Given the description of an element on the screen output the (x, y) to click on. 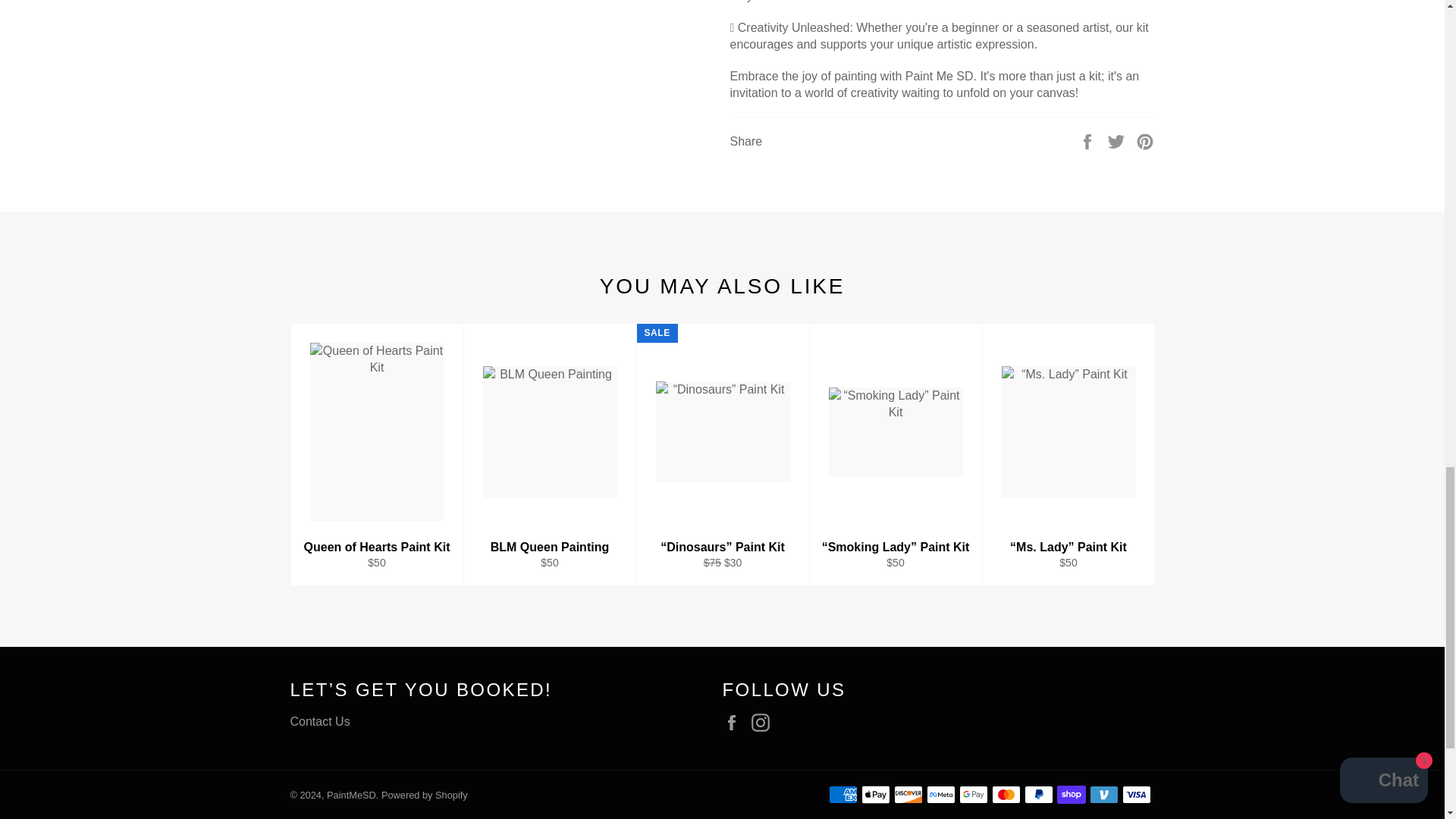
Tweet on Twitter (1117, 140)
PaintMeSD on Facebook (735, 722)
Share on Facebook (1088, 140)
PaintMeSD on Instagram (764, 722)
Pin on Pinterest (1144, 140)
